Given the description of an element on the screen output the (x, y) to click on. 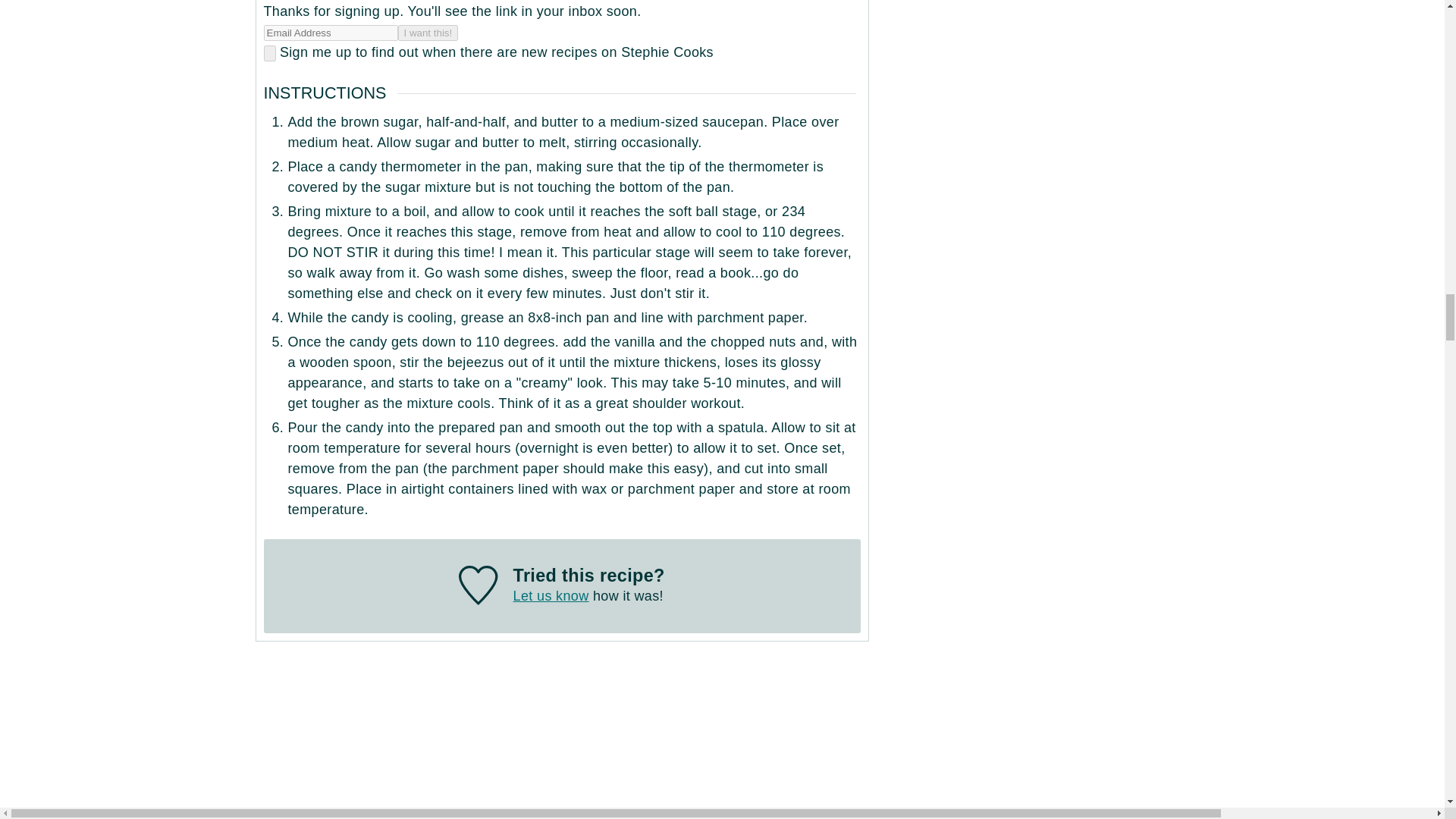
Let us know (551, 595)
